Given the description of an element on the screen output the (x, y) to click on. 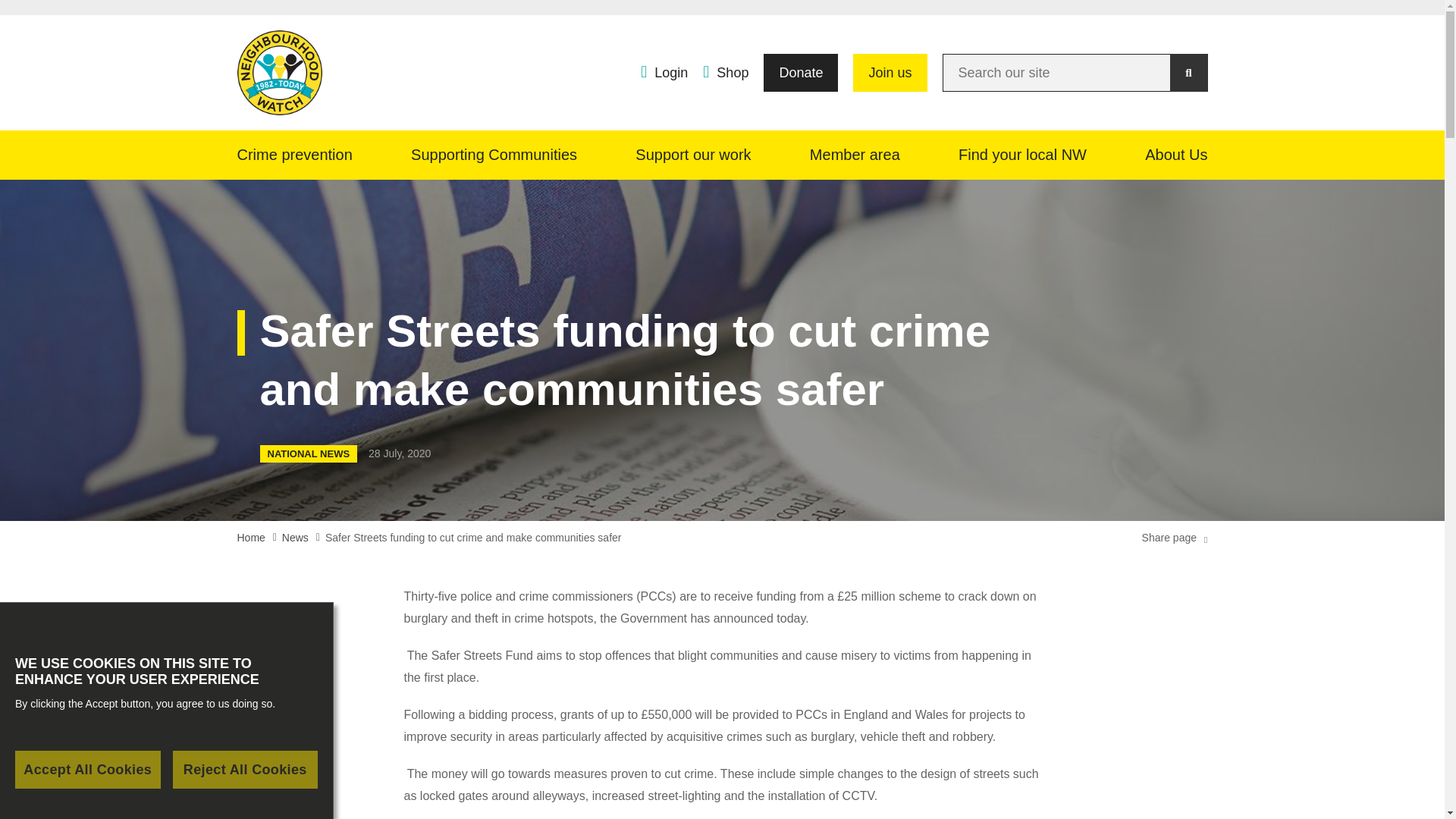
Search (1188, 72)
Enter the terms you wish to search for. (1074, 72)
Cookie preference options (58, 796)
